Given the description of an element on the screen output the (x, y) to click on. 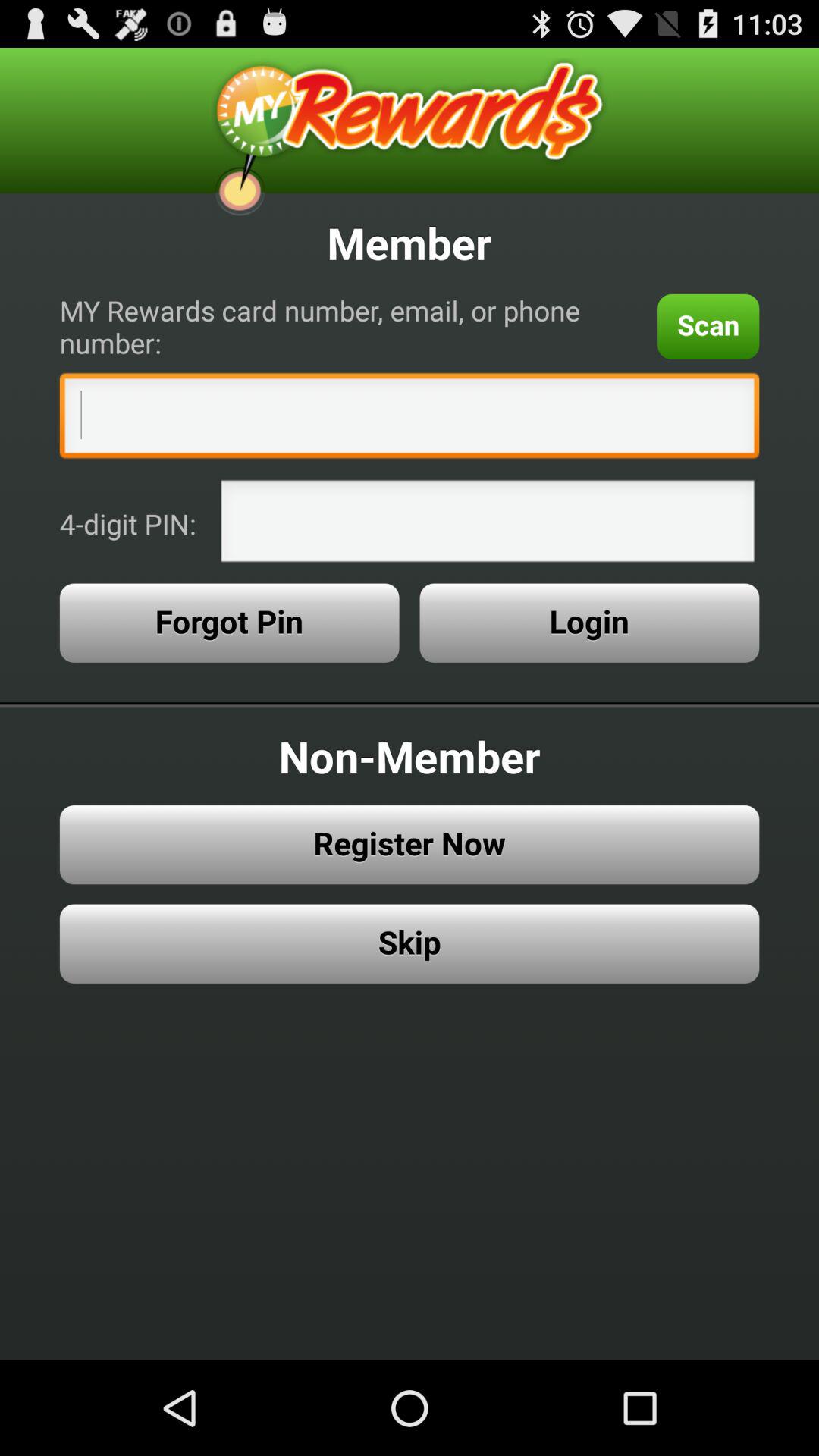
tap the skip item (409, 943)
